Given the description of an element on the screen output the (x, y) to click on. 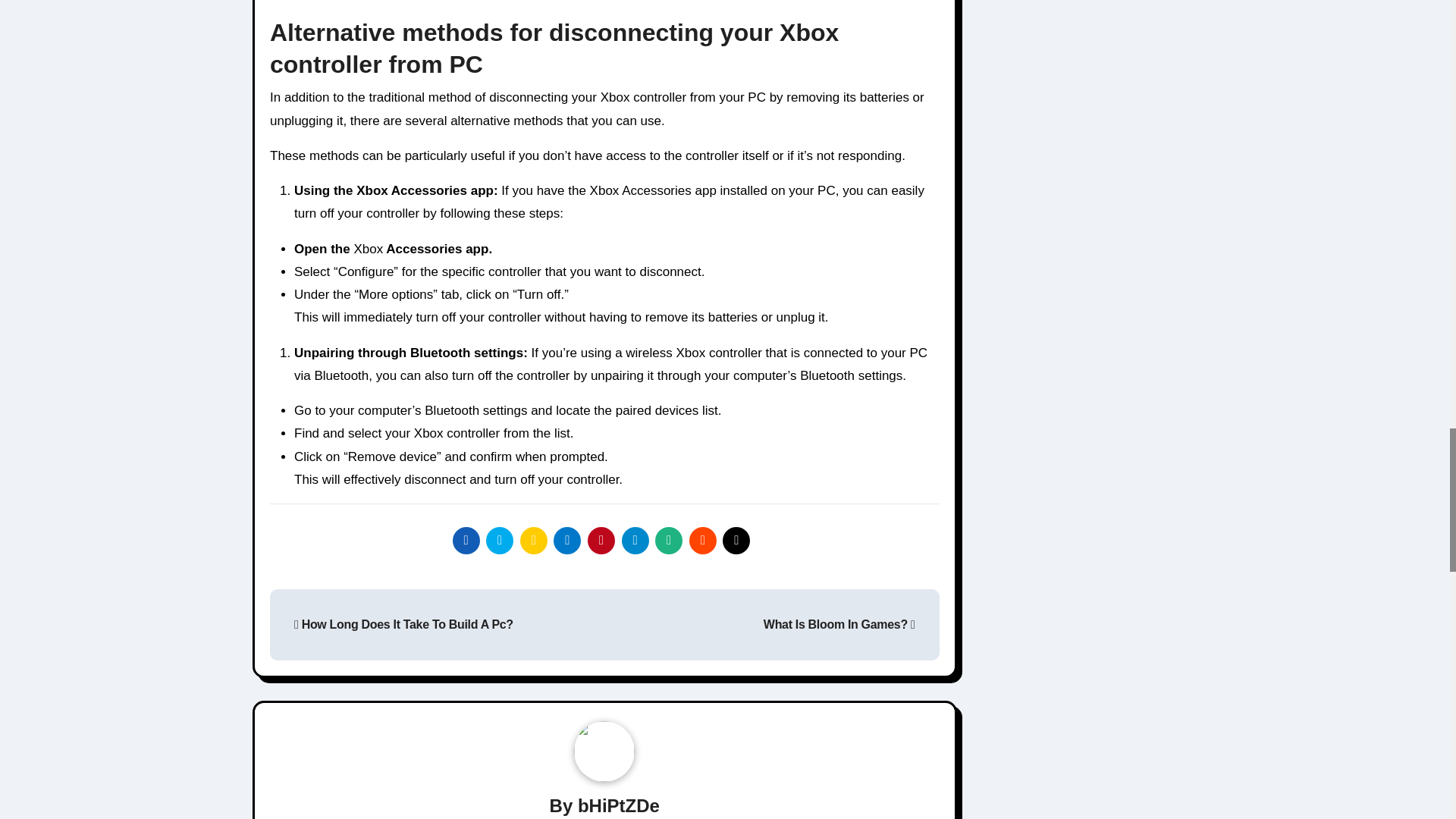
How Long Does It Take To Build A Pc? (403, 624)
